Given the description of an element on the screen output the (x, y) to click on. 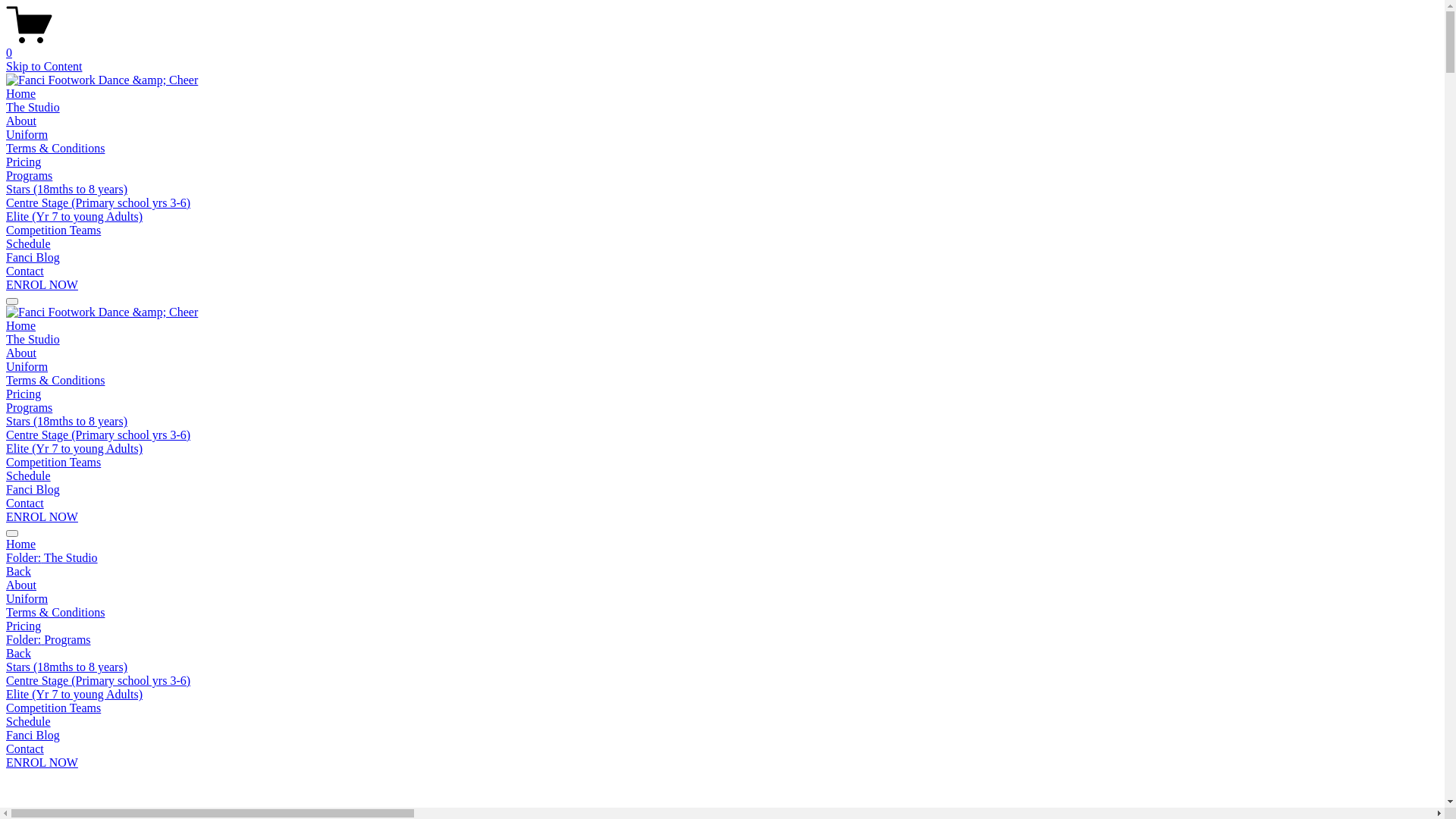
Back Element type: text (18, 570)
The Studio Element type: text (32, 106)
Contact Element type: text (24, 270)
Terms & Conditions Element type: text (722, 612)
Contact Element type: text (722, 749)
Centre Stage (Primary school yrs 3-6) Element type: text (98, 434)
0 Element type: text (722, 45)
Stars (18mths to 8 years) Element type: text (66, 188)
Uniform Element type: text (26, 134)
The Studio Element type: text (32, 338)
Competition Teams Element type: text (53, 461)
Back Element type: text (18, 652)
About Element type: text (722, 585)
Home Element type: text (722, 544)
Fanci Blog Element type: text (32, 257)
Contact Element type: text (24, 502)
Programs Element type: text (29, 175)
Elite (Yr 7 to young Adults) Element type: text (74, 216)
Centre Stage (Primary school yrs 3-6) Element type: text (722, 680)
Folder: Programs Element type: text (722, 639)
Elite (Yr 7 to young Adults) Element type: text (722, 694)
Pricing Element type: text (23, 161)
Folder: The Studio Element type: text (722, 557)
Terms & Conditions Element type: text (55, 147)
Fanci Blog Element type: text (32, 489)
About Element type: text (21, 120)
Centre Stage (Primary school yrs 3-6) Element type: text (98, 202)
ENROL NOW Element type: text (42, 284)
ENROL NOW Element type: text (42, 762)
Schedule Element type: text (722, 721)
Fanci Blog Element type: text (722, 735)
Stars (18mths to 8 years) Element type: text (722, 667)
Schedule Element type: text (28, 243)
ENROL NOW Element type: text (42, 516)
Uniform Element type: text (722, 598)
Schedule Element type: text (28, 475)
Programs Element type: text (29, 407)
Elite (Yr 7 to young Adults) Element type: text (74, 448)
Stars (18mths to 8 years) Element type: text (66, 420)
Pricing Element type: text (722, 626)
Competition Teams Element type: text (53, 229)
Terms & Conditions Element type: text (55, 379)
Skip to Content Element type: text (43, 65)
Home Element type: text (20, 93)
About Element type: text (21, 352)
Pricing Element type: text (23, 393)
Uniform Element type: text (26, 366)
Home Element type: text (20, 325)
Competition Teams Element type: text (722, 708)
